Given the description of an element on the screen output the (x, y) to click on. 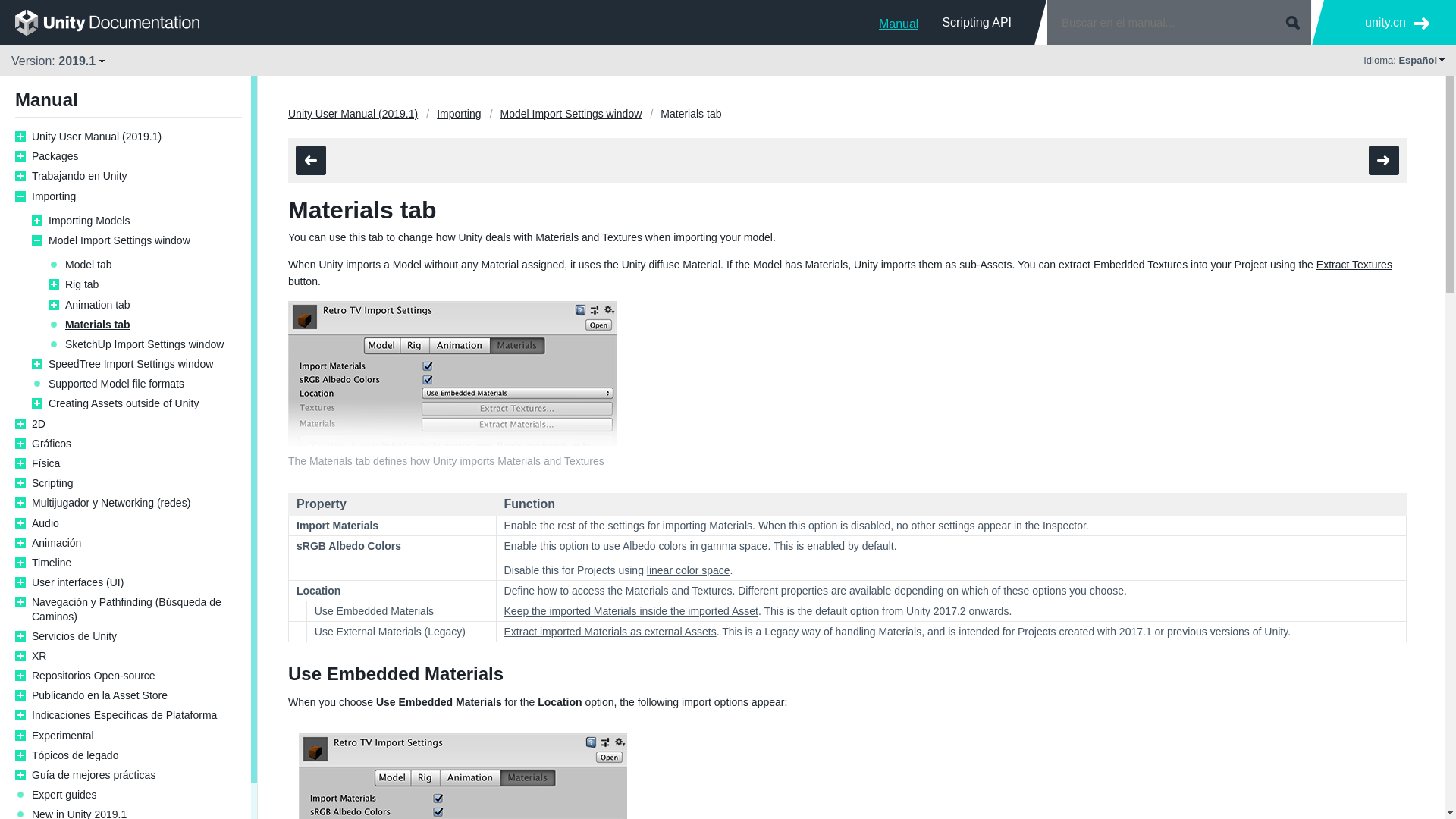
Scripting API (976, 22)
unity.cn (1397, 22)
Manual (898, 22)
